Given the description of an element on the screen output the (x, y) to click on. 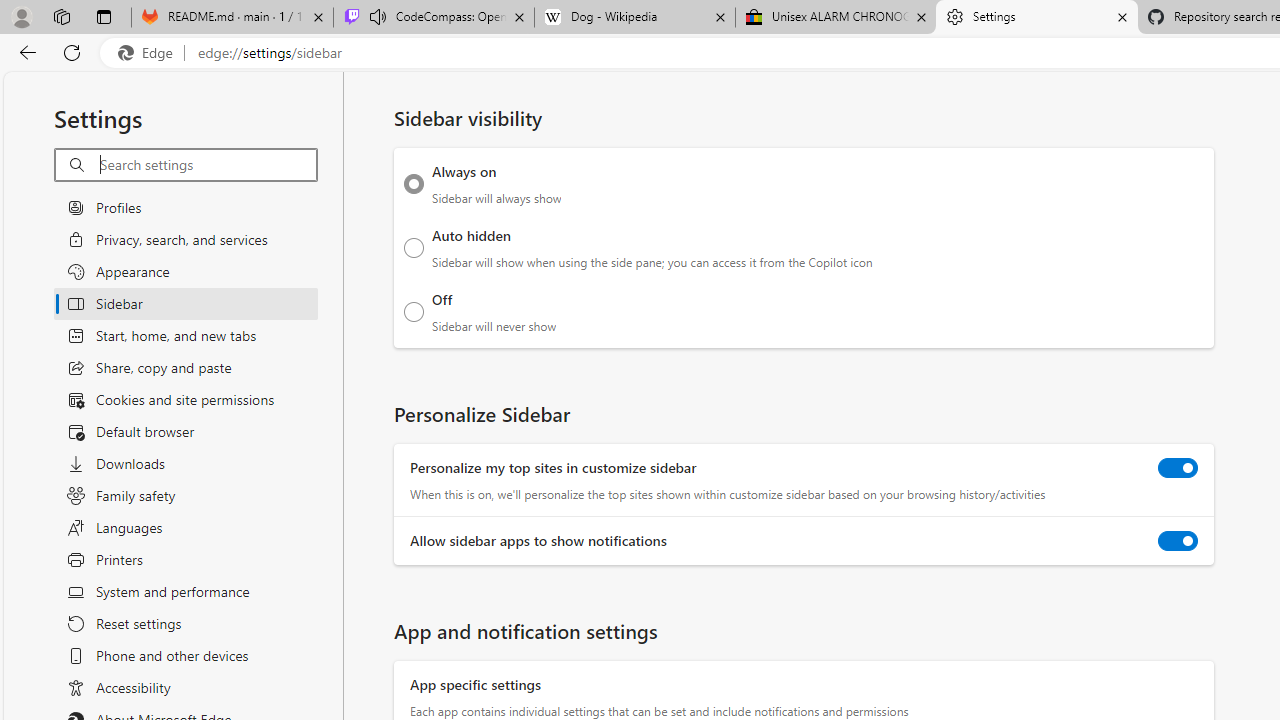
Off Sidebar will never show (413, 311)
Mute tab (377, 16)
Personalize my top sites in customize sidebar (1178, 467)
Edge (150, 53)
Dog - Wikipedia (634, 17)
Search settings (207, 165)
Personal Profile (21, 16)
Allow sidebar apps to show notifications (1178, 540)
Always on Sidebar will always show (413, 183)
